Given the description of an element on the screen output the (x, y) to click on. 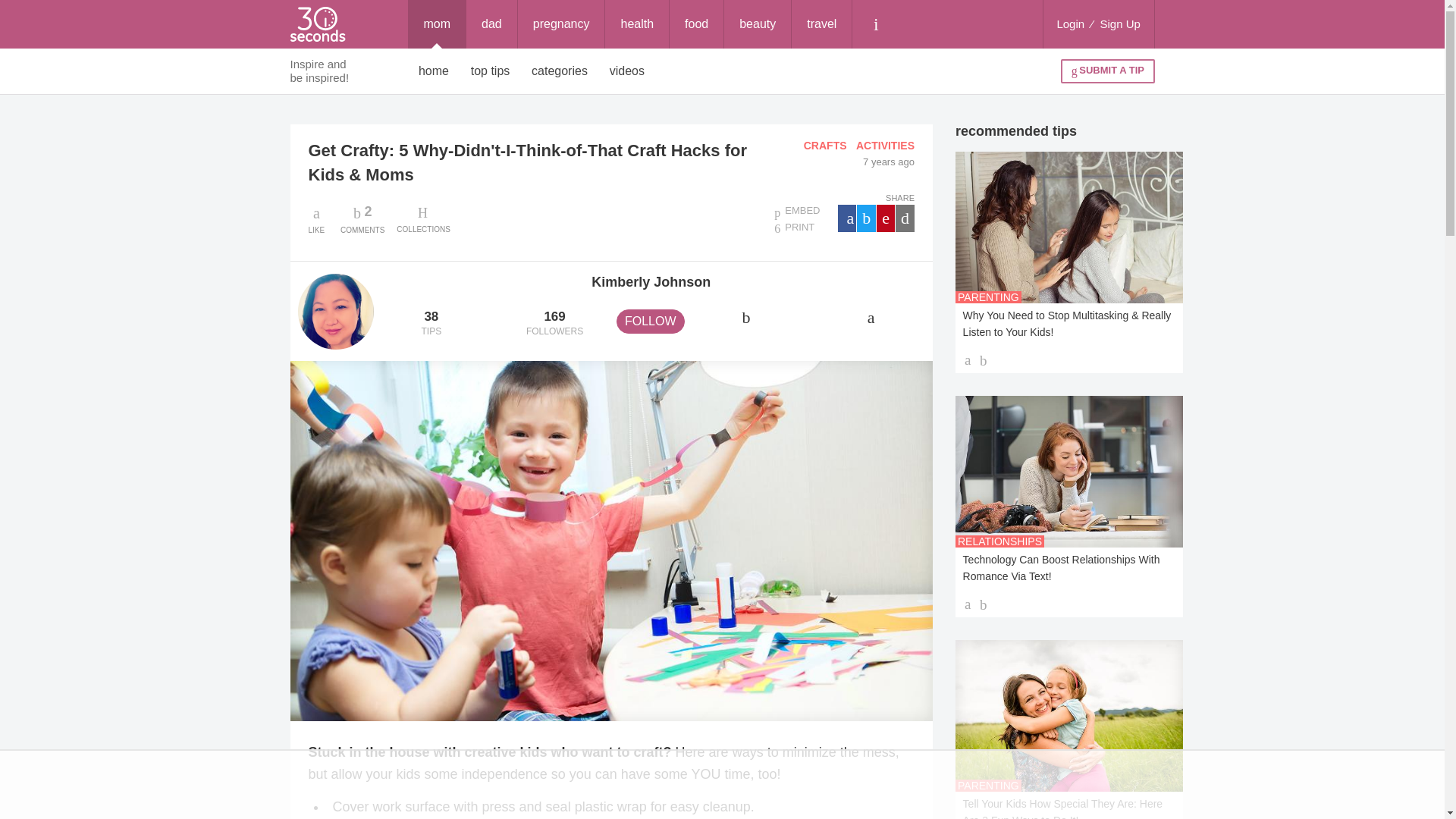
dad (490, 24)
categories (559, 71)
home (433, 71)
top tips (489, 71)
Sign Up (1120, 23)
Login (1069, 23)
mom (436, 24)
food (696, 24)
health (636, 24)
pregnancy (561, 24)
travel (362, 218)
beauty (821, 24)
